Given the description of an element on the screen output the (x, y) to click on. 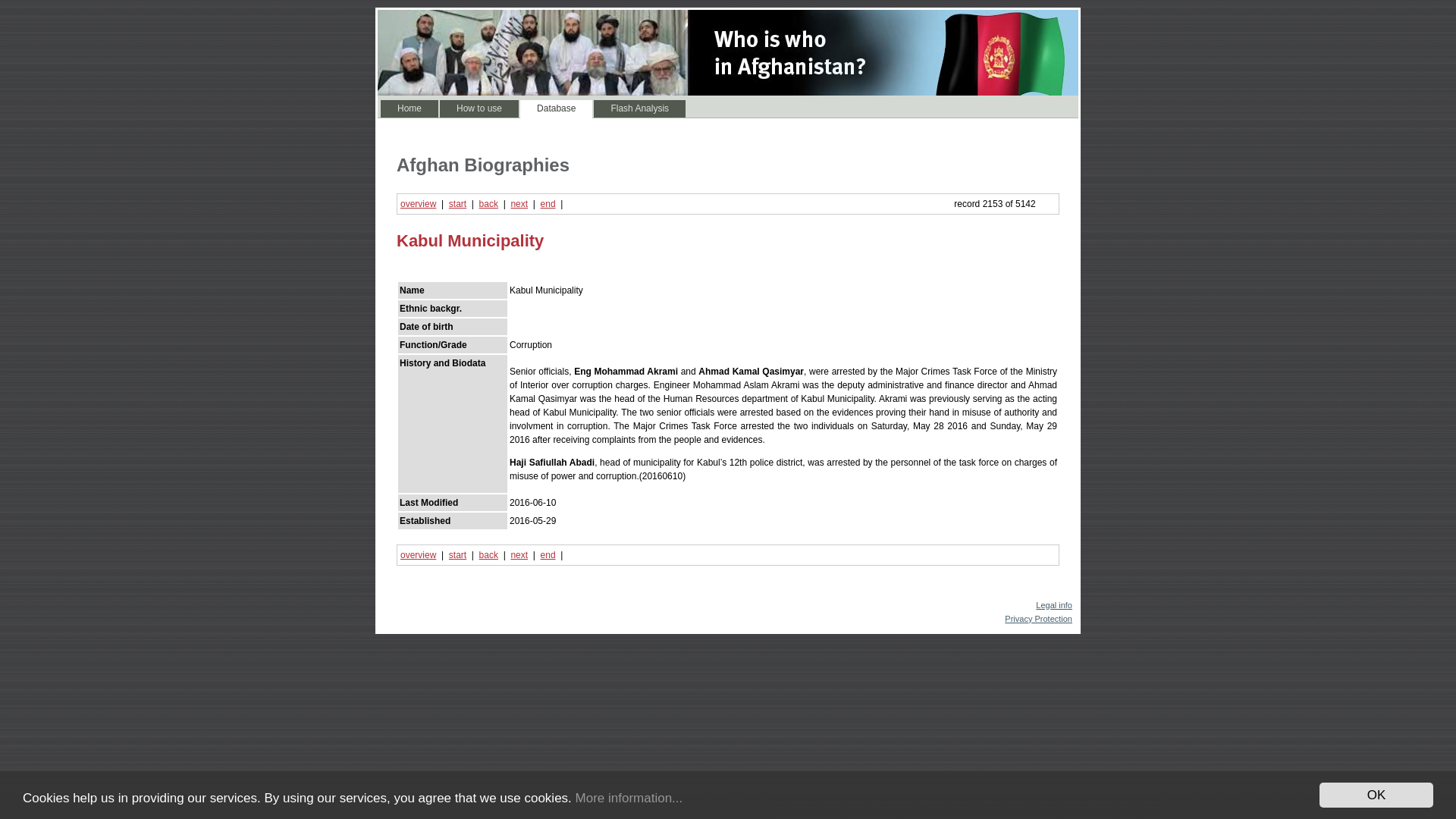
end (548, 554)
back (488, 204)
Flash Analysis (639, 108)
start (456, 204)
Database (555, 108)
Privacy Protection (1037, 618)
next (519, 554)
How to use (478, 108)
next (519, 204)
Home (409, 108)
